Given the description of an element on the screen output the (x, y) to click on. 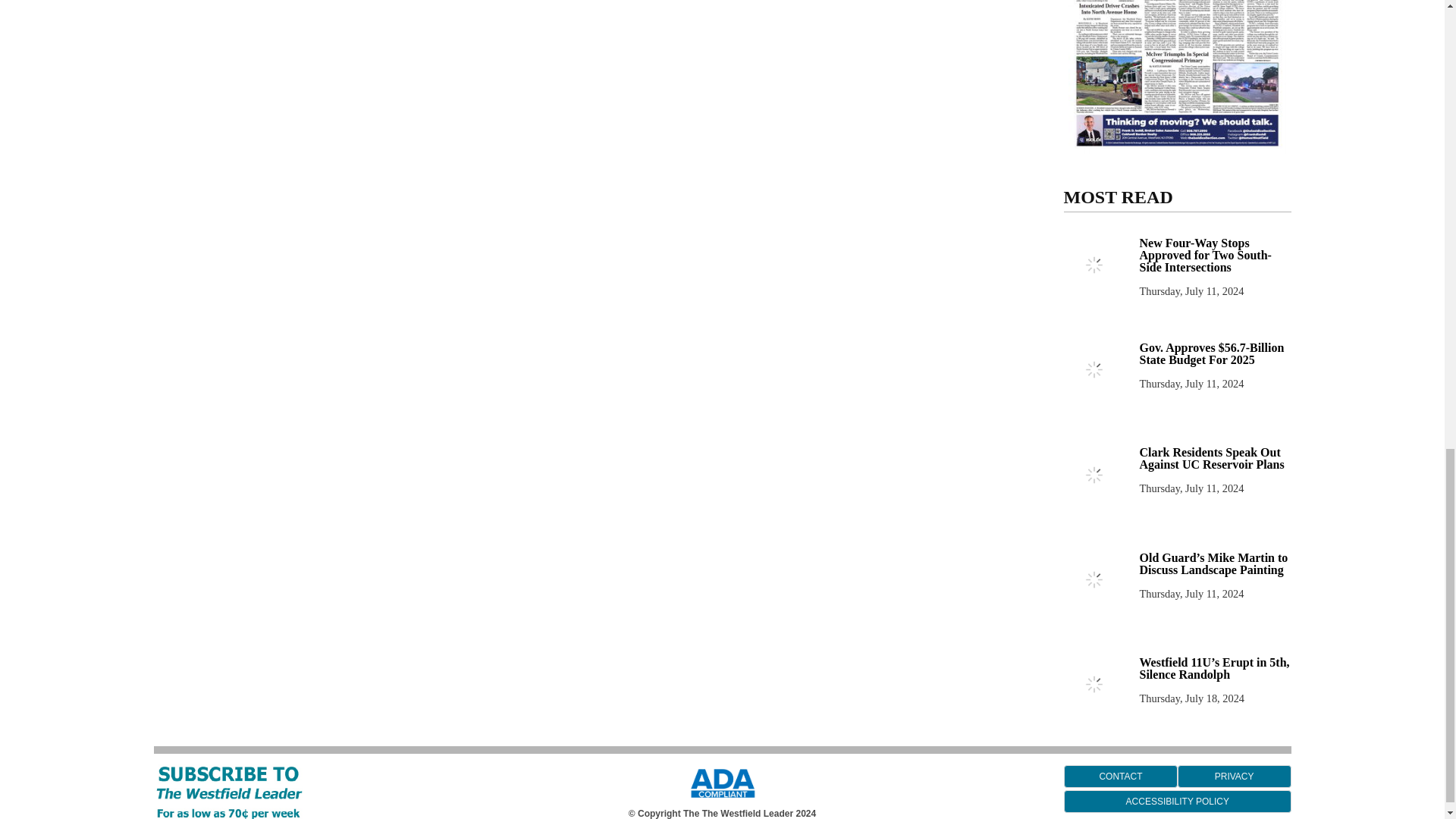
ePaper (1176, 76)
